Given the description of an element on the screen output the (x, y) to click on. 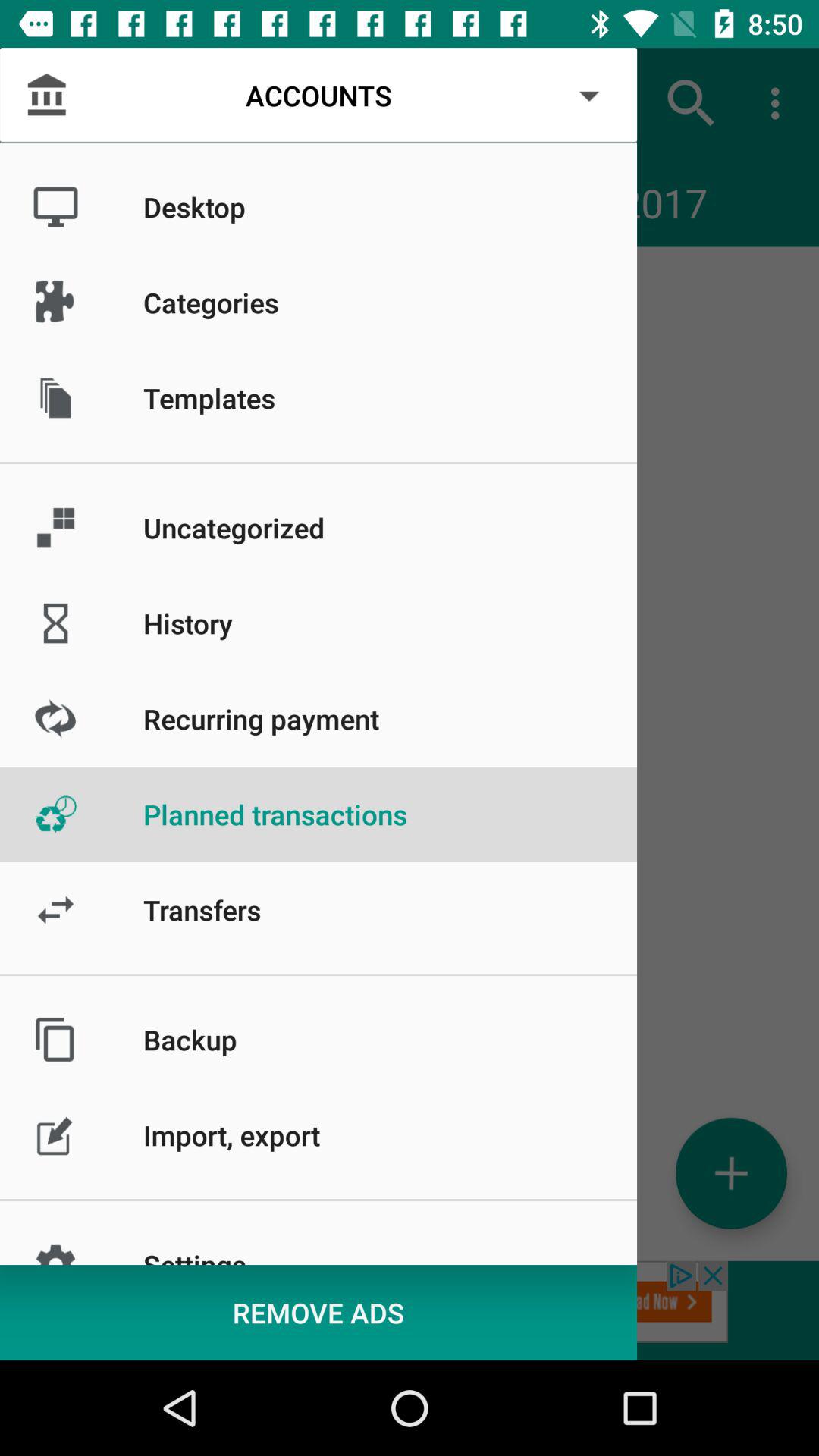
launch remove ads item (318, 1312)
